Given the description of an element on the screen output the (x, y) to click on. 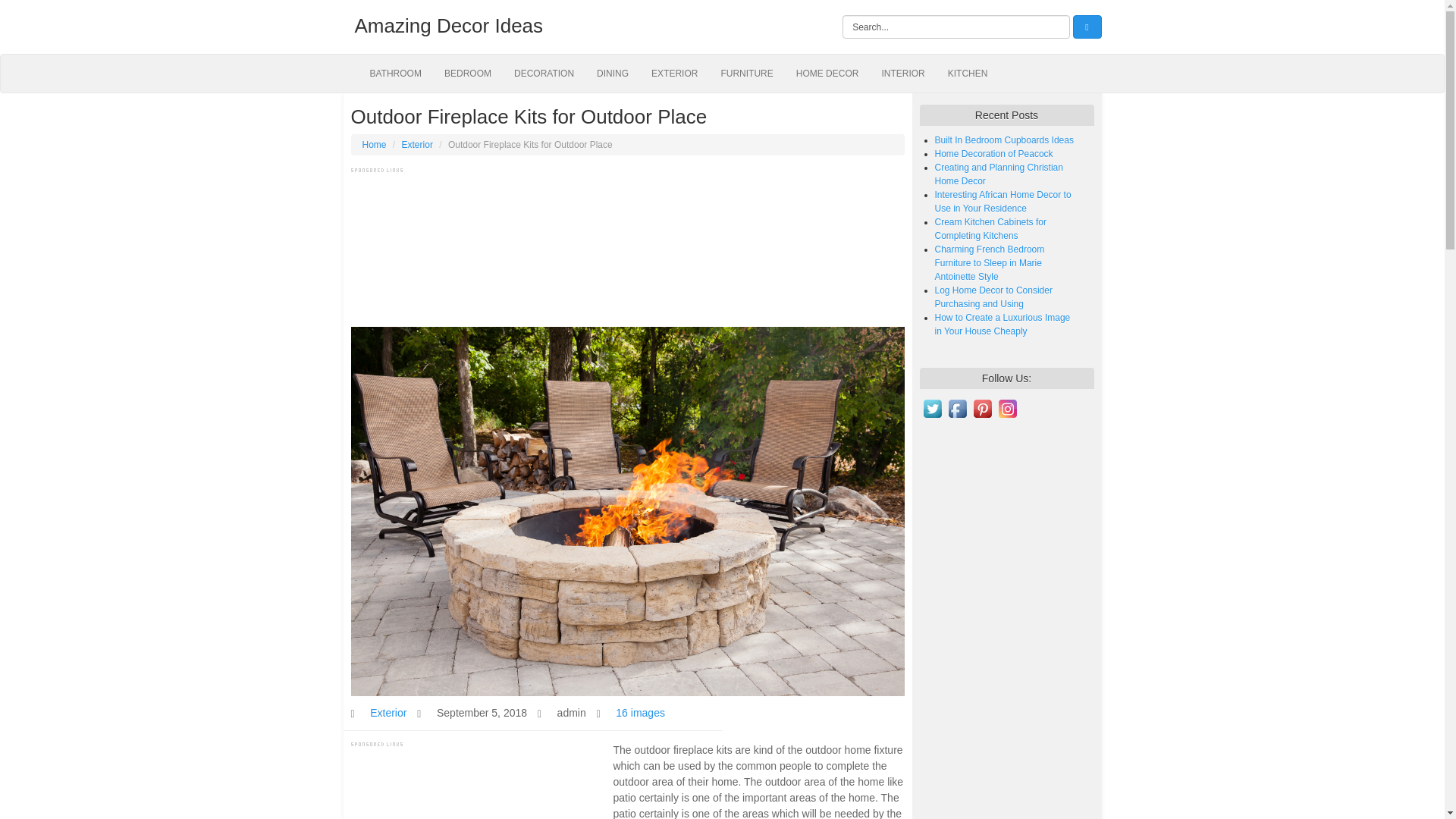
FURNITURE (746, 73)
DINING (612, 73)
DINING (612, 73)
16 images (640, 712)
KITCHEN (967, 73)
Exterior (387, 712)
Advertisement (627, 245)
EXTERIOR (674, 73)
INTERIOR (902, 73)
Search...  (956, 26)
HOME DECOR (827, 73)
KITCHEN (967, 73)
BATHROOM (395, 73)
EXTERIOR (674, 73)
BATHROOM (395, 73)
